Given the description of an element on the screen output the (x, y) to click on. 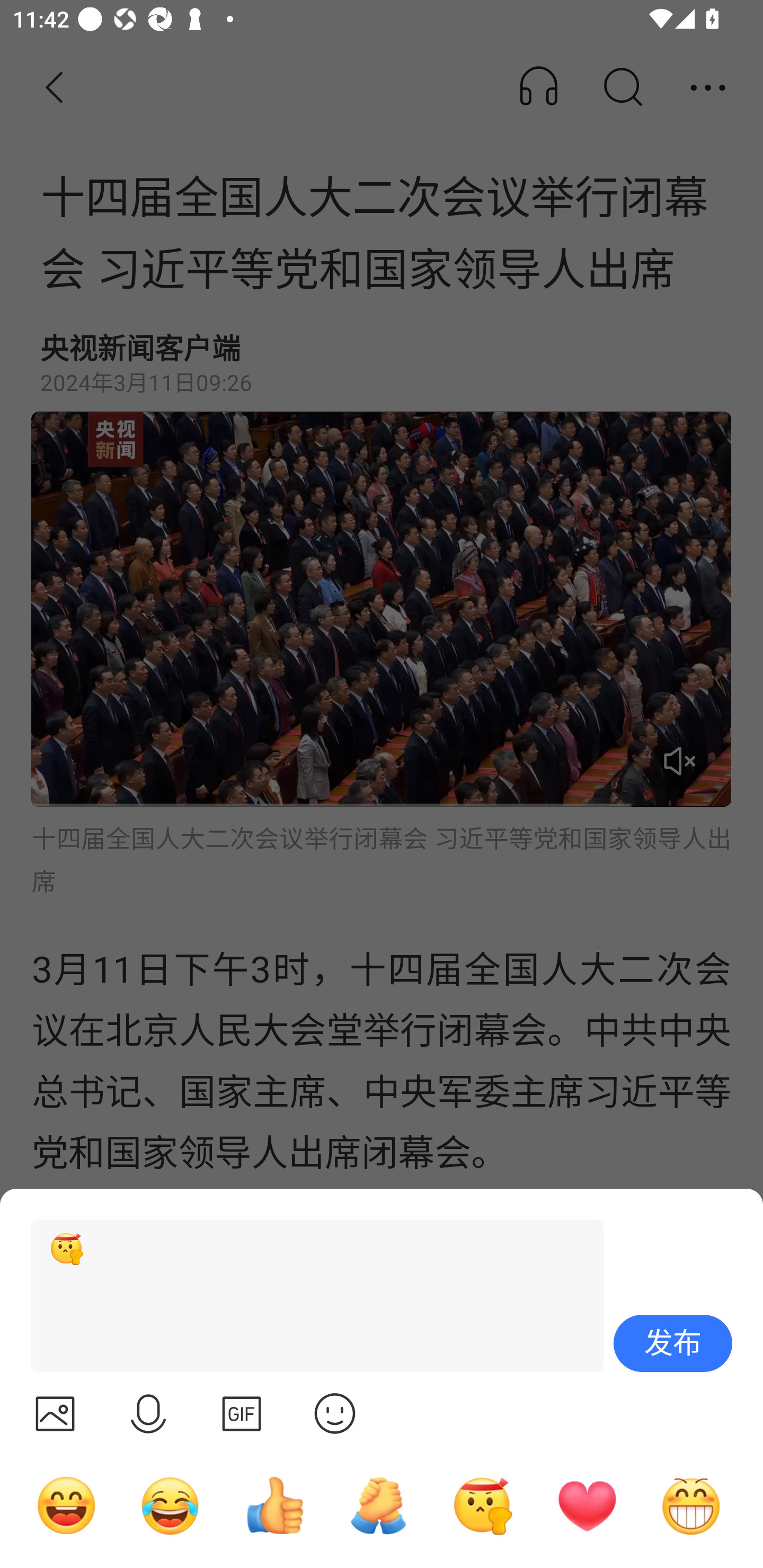
[奋斗] (308, 1295)
发布 (672, 1343)
 (54, 1413)
 (148, 1413)
 (241, 1413)
 (334, 1413)
哈哈 (66, 1505)
哭笑 (170, 1505)
点赞 (274, 1505)
加油 (378, 1505)
奋斗 (482, 1505)
心 (586, 1505)
呲牙 (690, 1505)
